Given the description of an element on the screen output the (x, y) to click on. 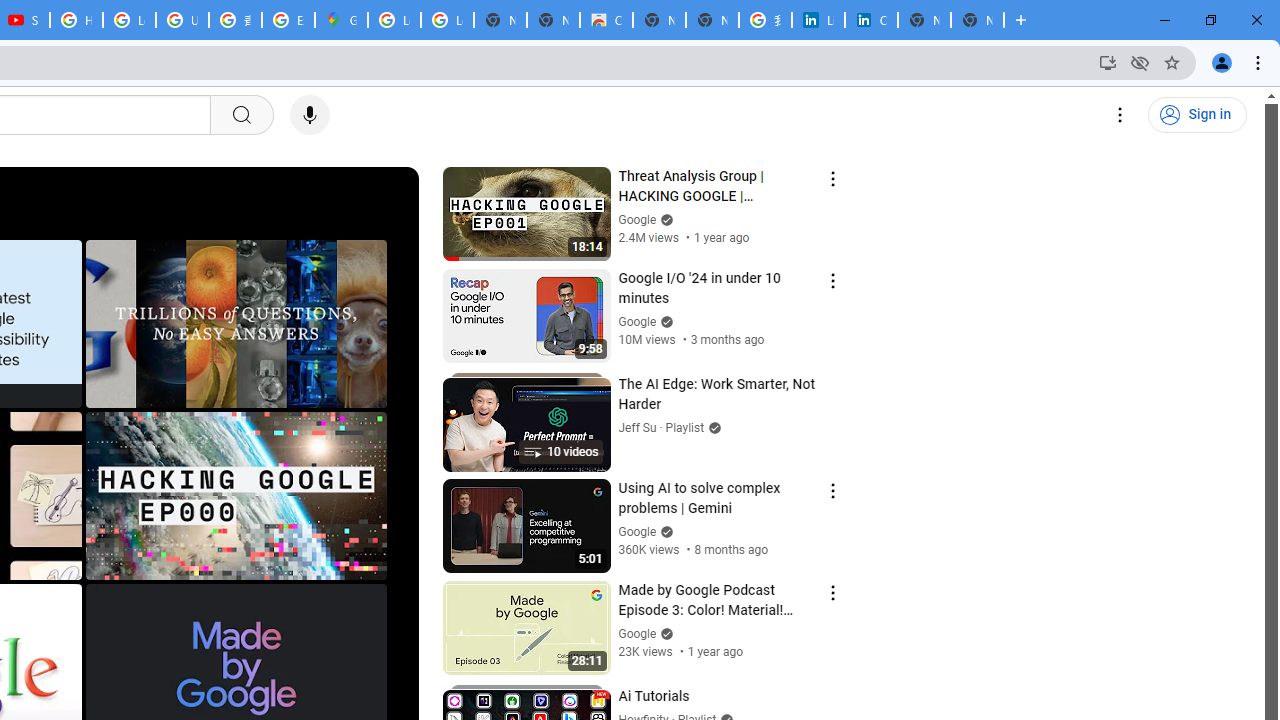
Action menu (832, 592)
Explore new street-level details - Google Maps Help (288, 20)
Chrome Web Store (606, 20)
Copyright Policy (871, 20)
Search with your voice (309, 115)
Install YouTube (1107, 62)
